Given the description of an element on the screen output the (x, y) to click on. 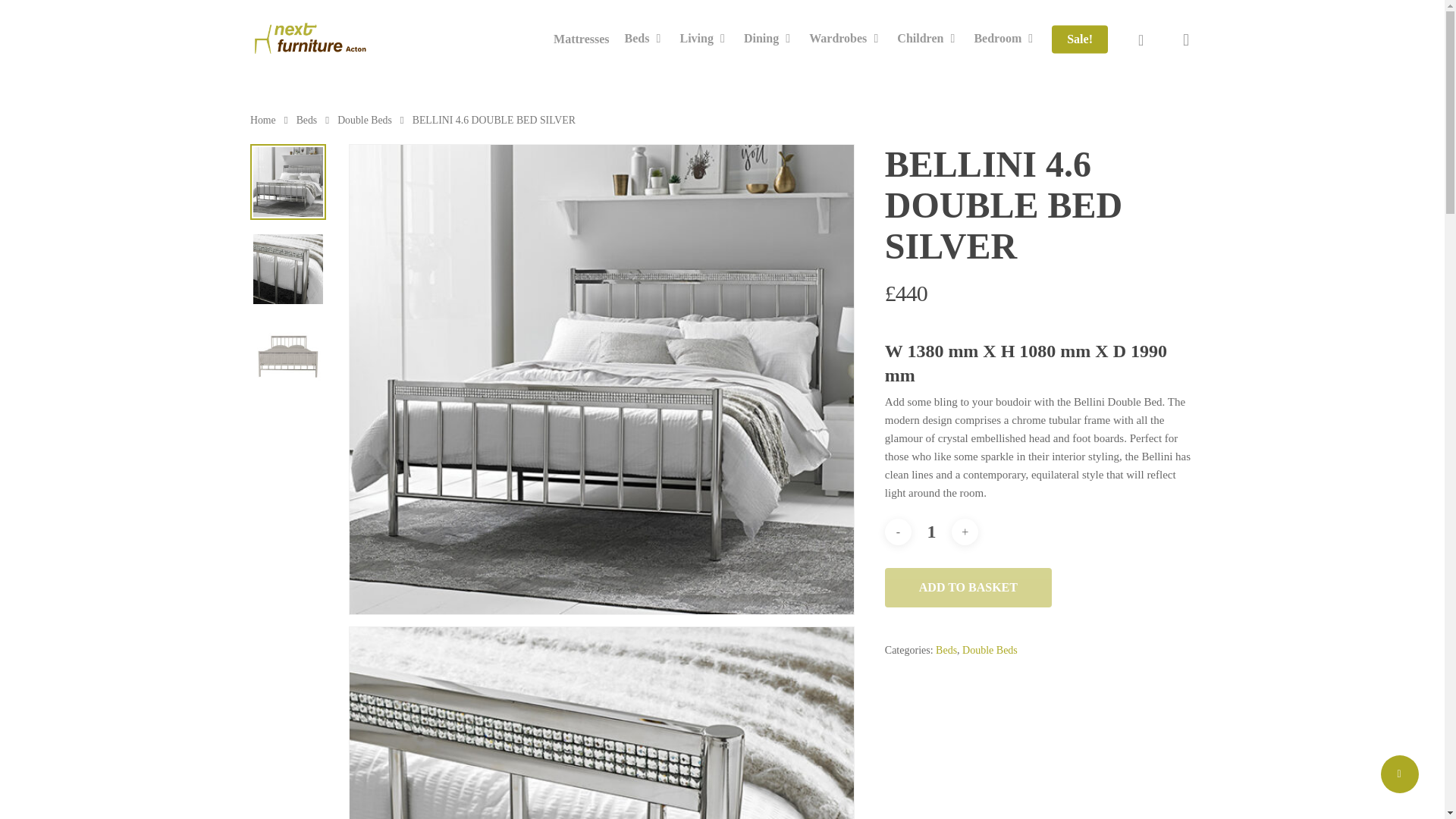
Living (703, 38)
Beds (644, 38)
1 (931, 531)
Mattresses (580, 39)
- (898, 531)
